Given the description of an element on the screen output the (x, y) to click on. 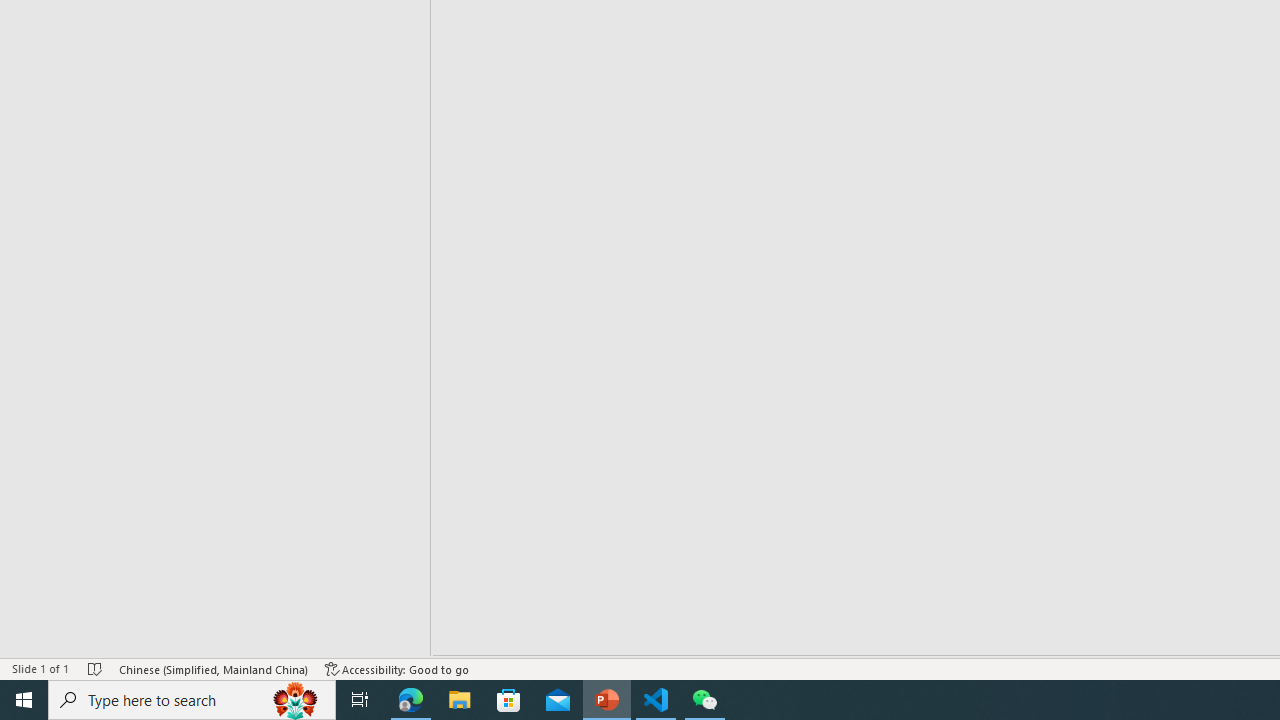
Accessibility Checker Accessibility: Good to go (397, 668)
